Given the description of an element on the screen output the (x, y) to click on. 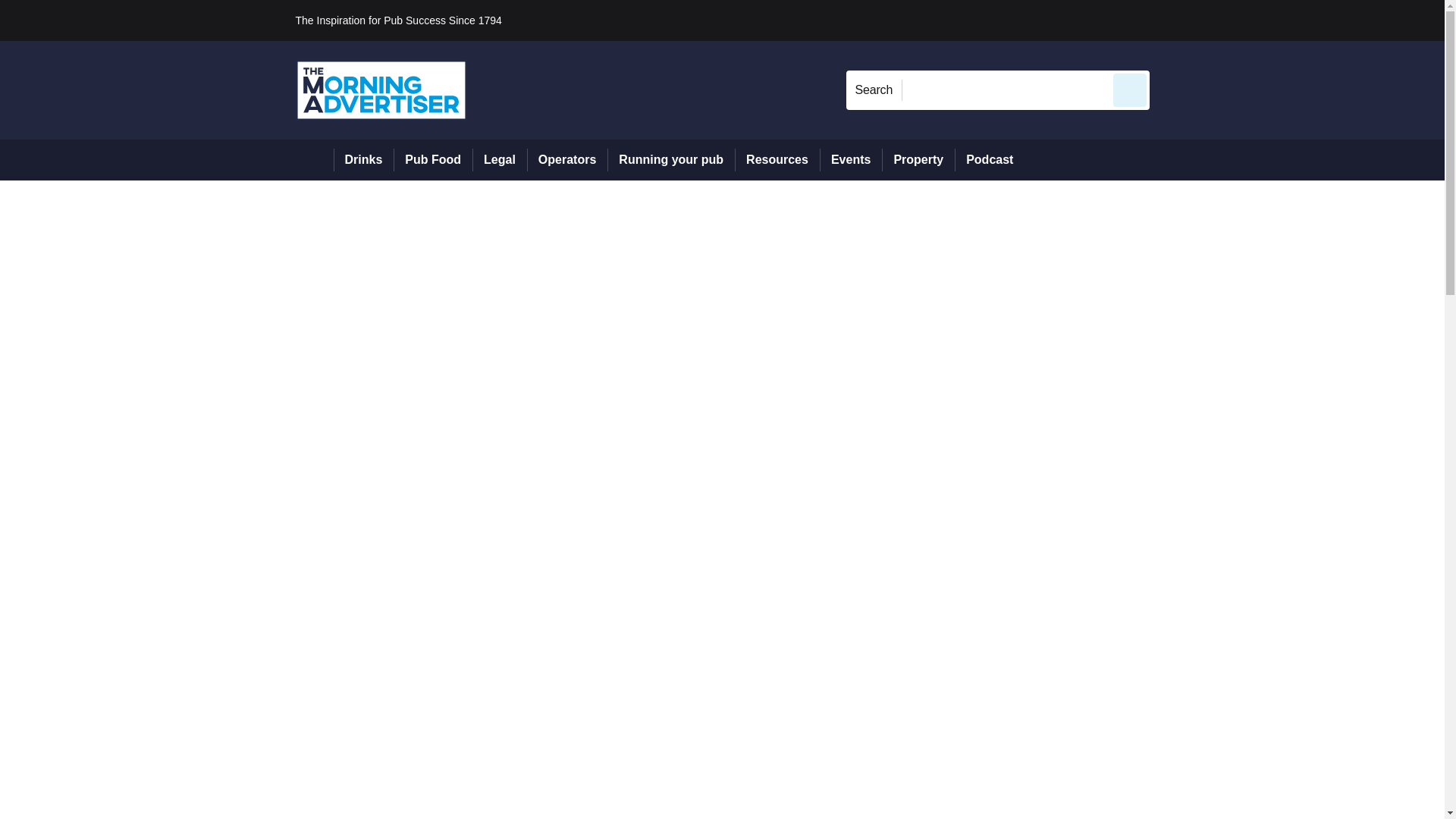
The Morning Advertiser (381, 89)
Home (314, 159)
Send (1129, 90)
My account (1256, 20)
Send (1129, 89)
Sign out (1174, 20)
REGISTER (1250, 20)
Pub Food (432, 159)
Legal (499, 159)
Home (313, 159)
